Given the description of an element on the screen output the (x, y) to click on. 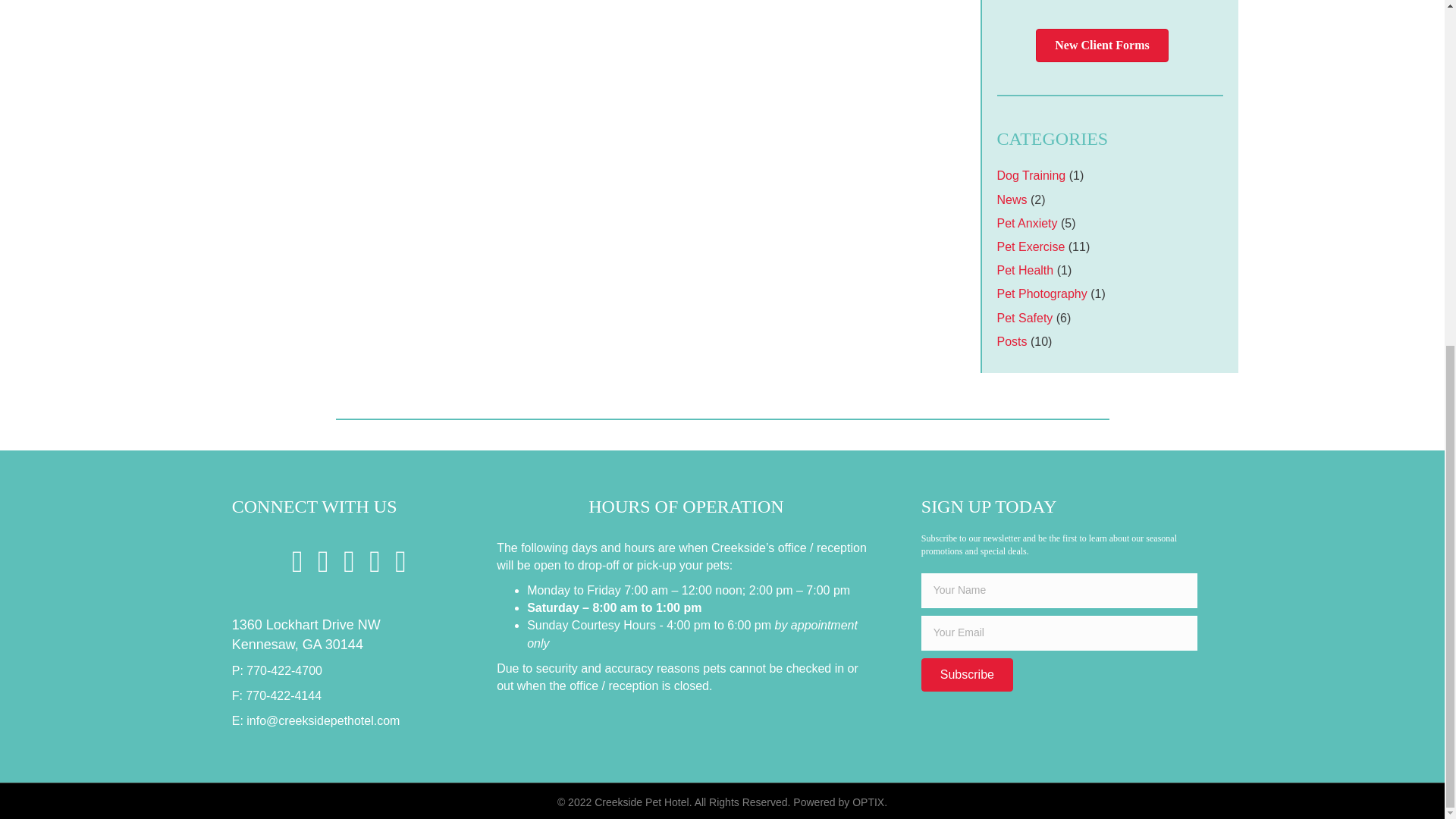
Pet Photography (1040, 293)
Pet Safety (1023, 318)
Dog Training (1030, 174)
Pet Anxiety (1026, 223)
Pet Health (1023, 269)
Posts (1010, 341)
News (1010, 199)
Pet Exercise (1029, 246)
Click Here (967, 674)
New Client Forms (1101, 45)
